Given the description of an element on the screen output the (x, y) to click on. 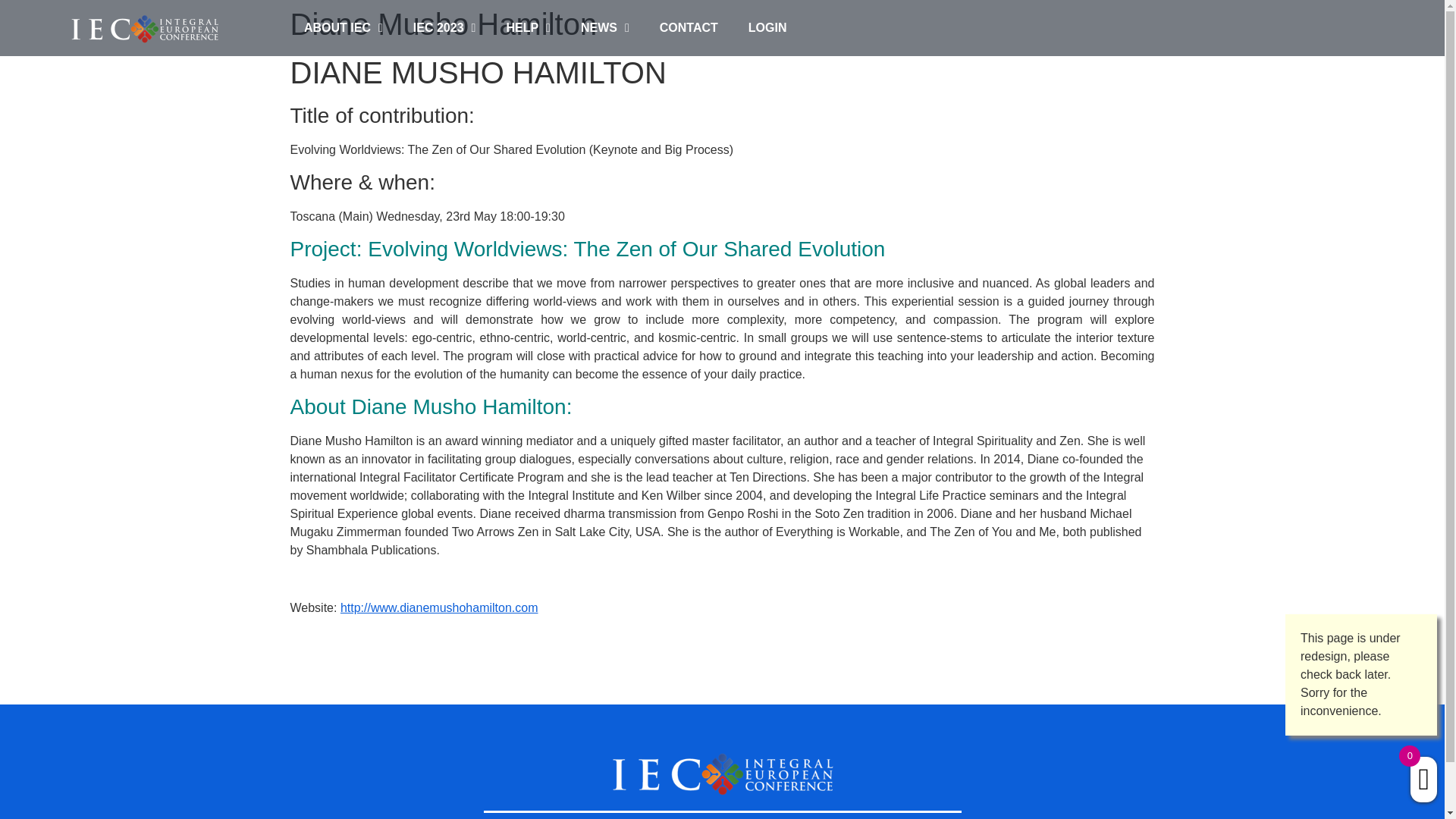
CONTACT (689, 27)
LOGIN (767, 27)
HELP (528, 27)
NEWS (605, 27)
ABOUT IEC (342, 27)
IEC 2023 (444, 27)
